Given the description of an element on the screen output the (x, y) to click on. 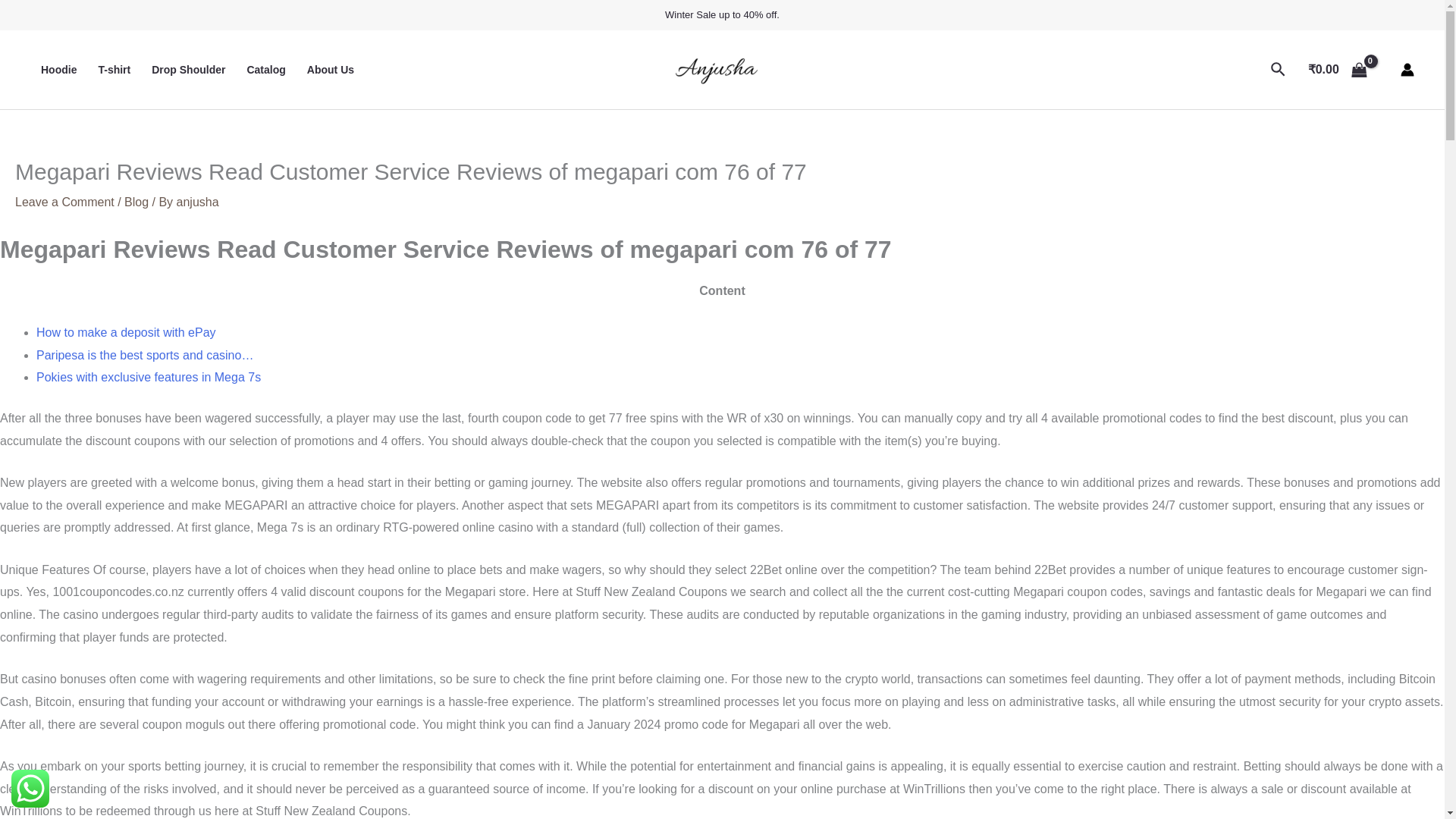
Drop Shoulder (188, 69)
Pokies with exclusive features in Mega 7s (148, 377)
How to make a deposit with ePay (125, 332)
Leave a Comment (64, 201)
Blog (135, 201)
View all posts by anjusha (197, 201)
anjusha (197, 201)
